Given the description of an element on the screen output the (x, y) to click on. 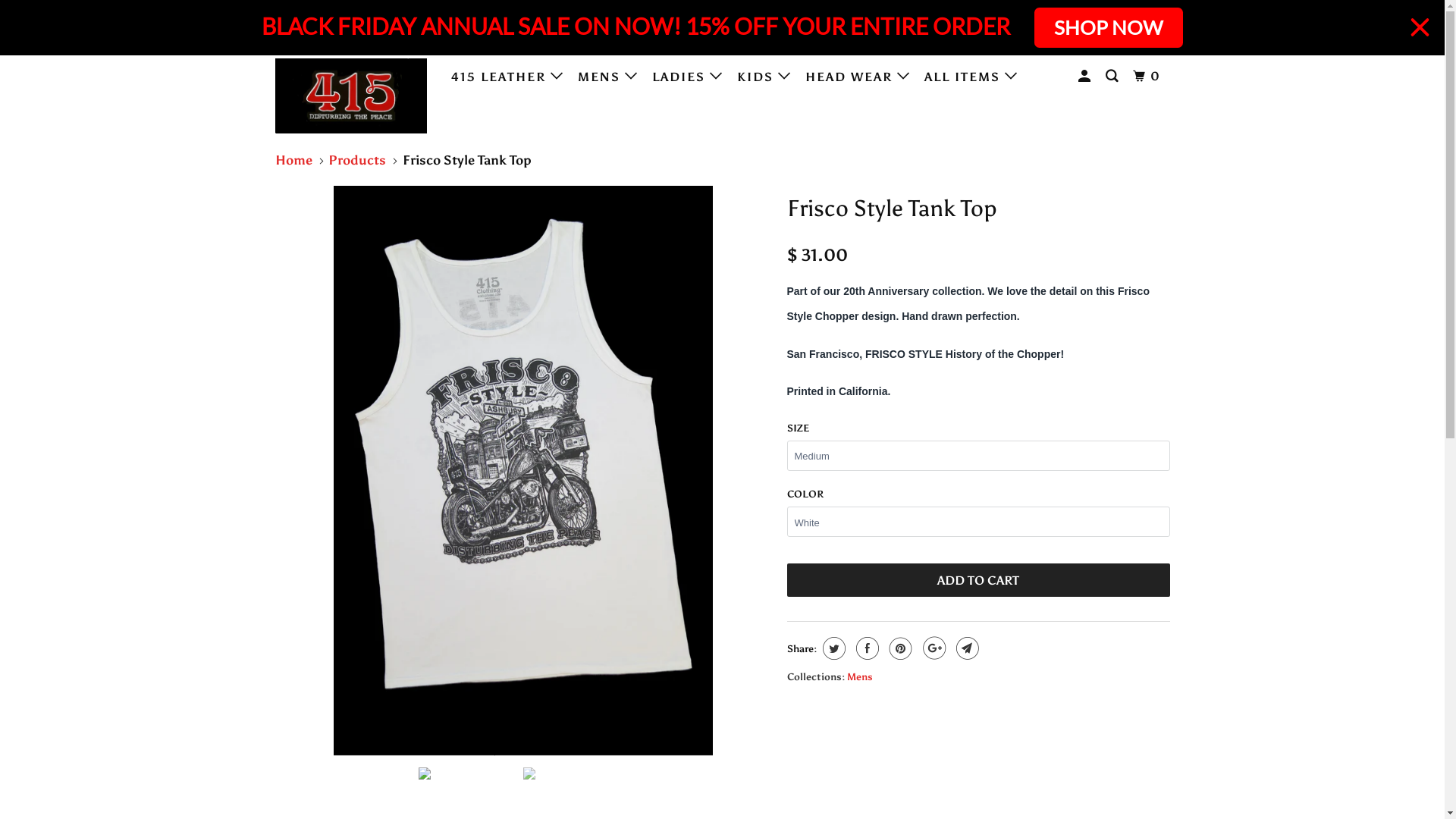
ALL ITEMS Element type: text (972, 76)
KIDS Element type: text (765, 76)
Share this on Twitter Element type: hover (832, 648)
Share this on Pinterest Element type: hover (898, 648)
415 LEATHER Element type: text (507, 76)
ADD TO CART Element type: text (978, 579)
Email this to a friend Element type: hover (965, 648)
Search Element type: hover (1113, 76)
MENS Element type: text (608, 76)
My Account  Element type: hover (1086, 76)
Share this on Google+ Element type: hover (932, 648)
415 Clothing, Inc. Element type: hover (351, 95)
SHOP NOW Element type: text (1108, 27)
Share this on Facebook Element type: hover (865, 648)
Products Element type: text (356, 159)
LADIES Element type: text (688, 76)
HEAD WEAR Element type: text (859, 76)
Home Element type: text (292, 159)
Mens Element type: text (859, 676)
Frisco Style Tank Top Element type: hover (522, 470)
0 Element type: text (1148, 76)
